Given the description of an element on the screen output the (x, y) to click on. 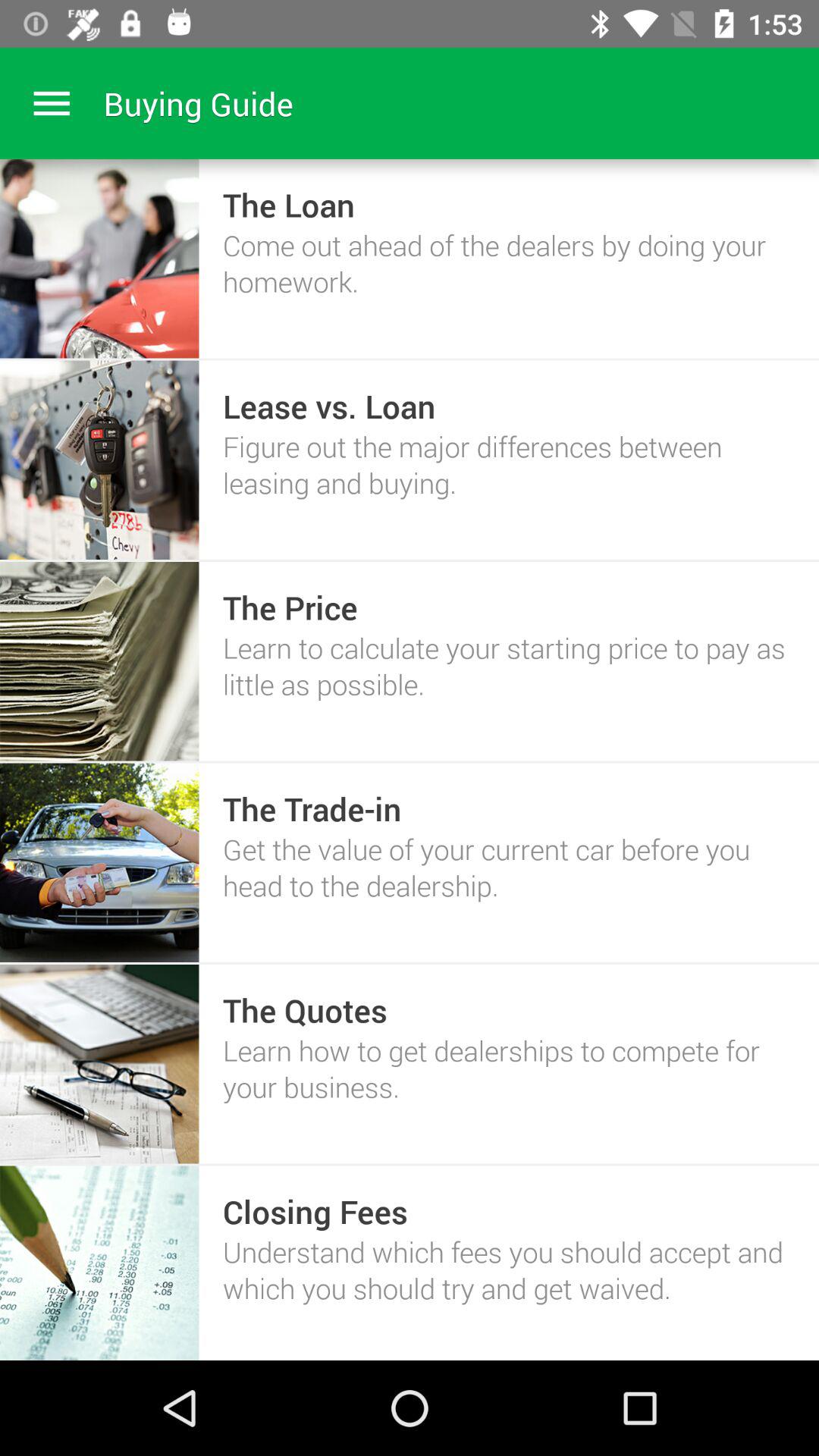
turn on item below come out ahead (328, 405)
